Given the description of an element on the screen output the (x, y) to click on. 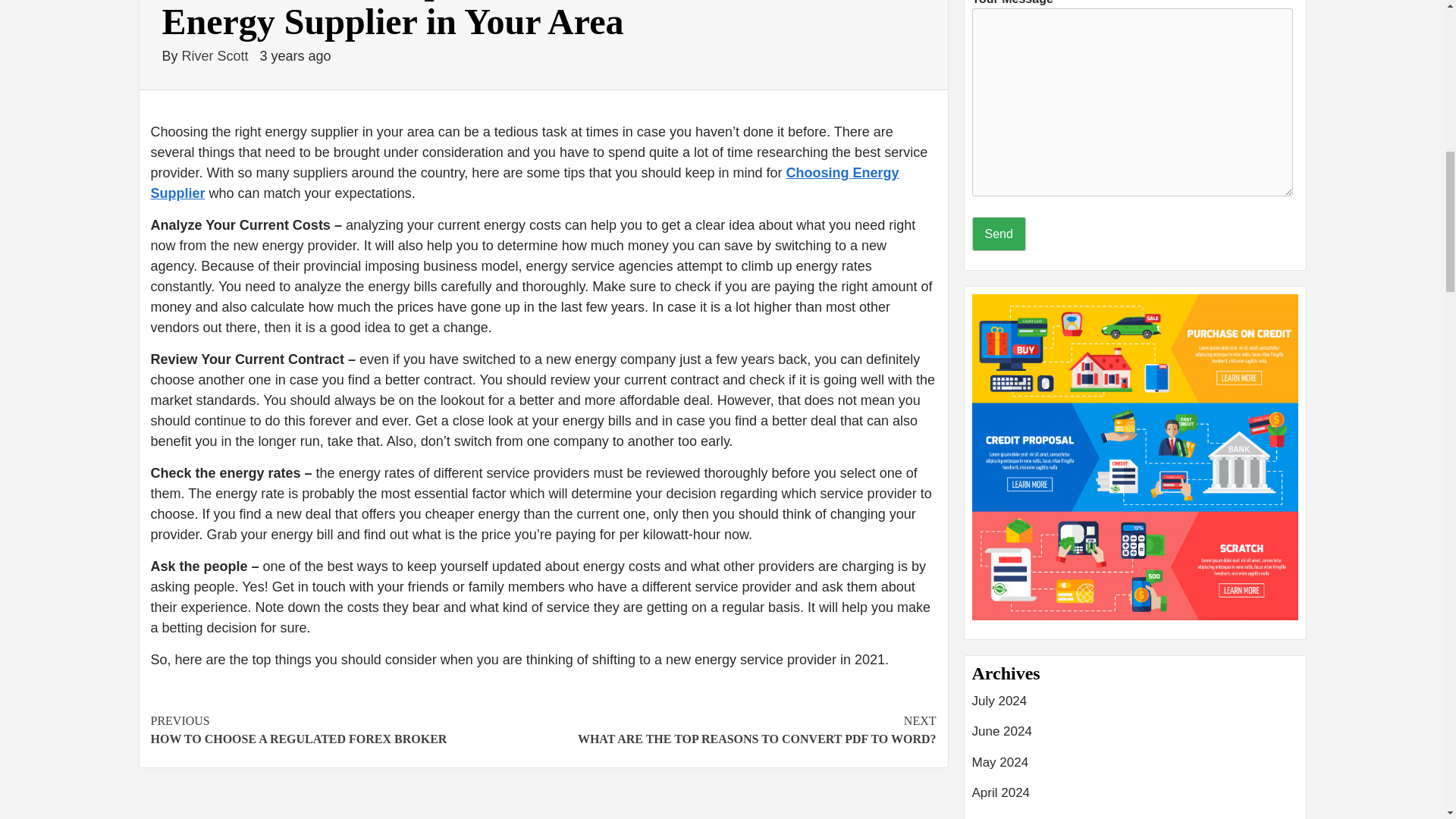
Send (999, 233)
Choosing Energy Supplier (523, 182)
River Scott (216, 55)
May 2024 (1135, 767)
Send (999, 233)
April 2024 (1135, 798)
June 2024 (1135, 736)
March 2024 (739, 729)
July 2024 (1135, 816)
